Given the description of an element on the screen output the (x, y) to click on. 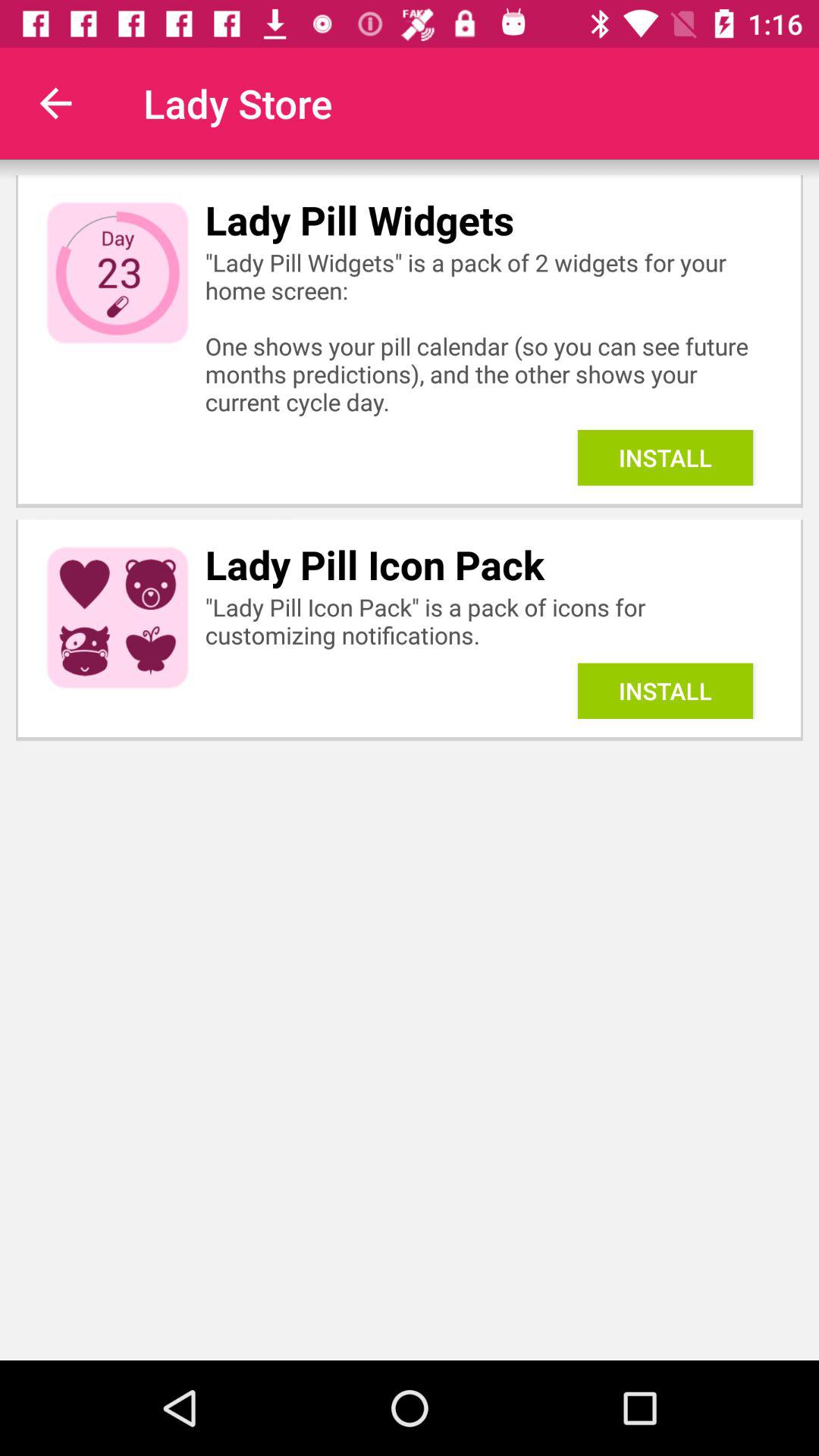
click the item next to lady store item (55, 103)
